Given the description of an element on the screen output the (x, y) to click on. 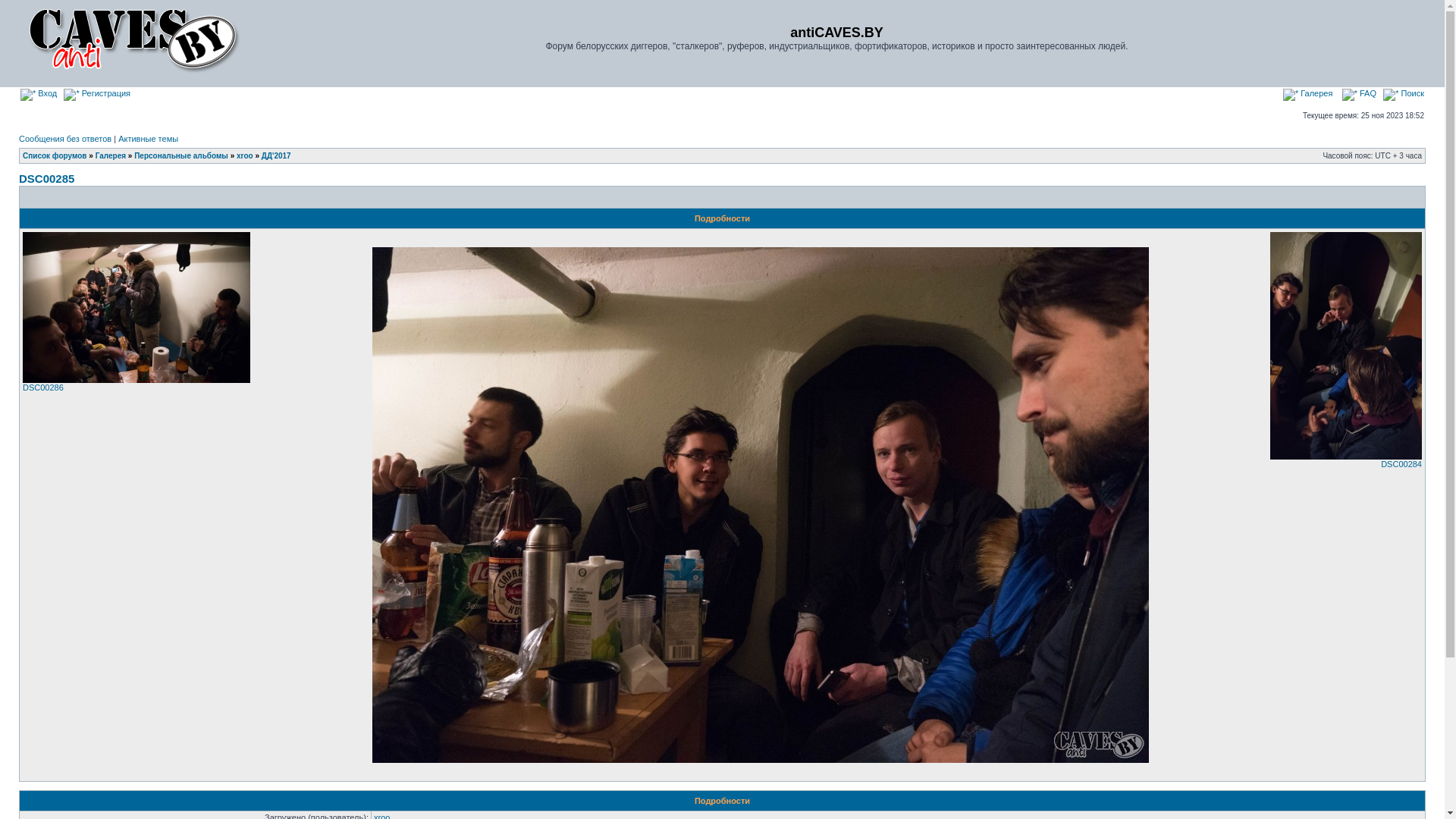
DSC00285 Element type: text (46, 178)
xroo Element type: text (244, 155)
DSC00284 Element type: hover (1345, 456)
DSC00286 Element type: hover (136, 379)
DSC00284 Element type: hover (1345, 345)
DSC00285 Element type: hover (759, 504)
DSC00284 Element type: text (1400, 463)
DSC00286 Element type: text (42, 387)
FAQ Element type: text (1359, 92)
DSC00285 Element type: hover (759, 760)
DSC00286 Element type: hover (136, 307)
